Given the description of an element on the screen output the (x, y) to click on. 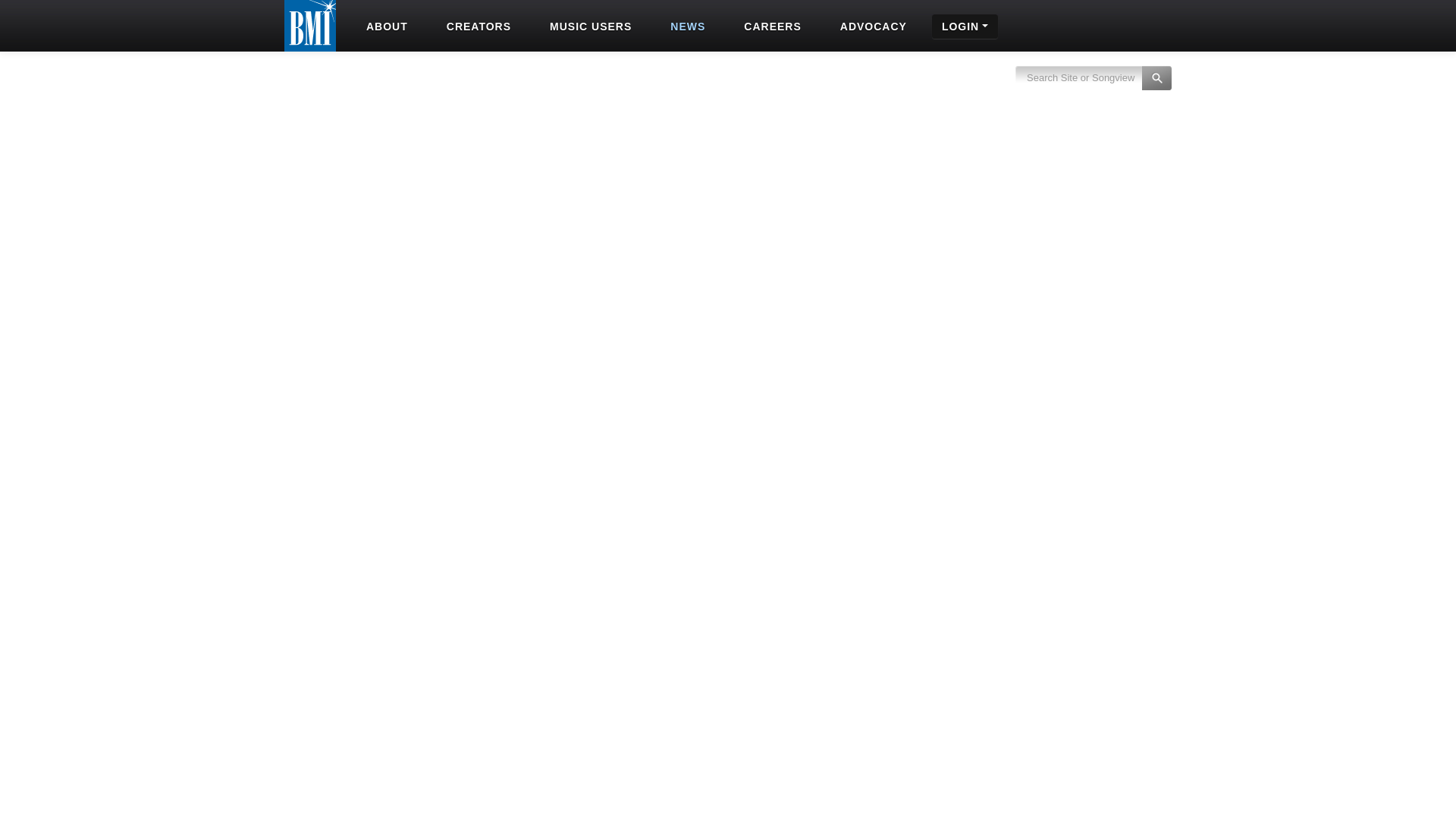
clear results (1093, 87)
MUSIC USERS (587, 25)
ADVOCACY (871, 25)
CREATORS (477, 25)
ABOUT (385, 25)
NEWS (685, 25)
CAREERS (770, 25)
